Given the description of an element on the screen output the (x, y) to click on. 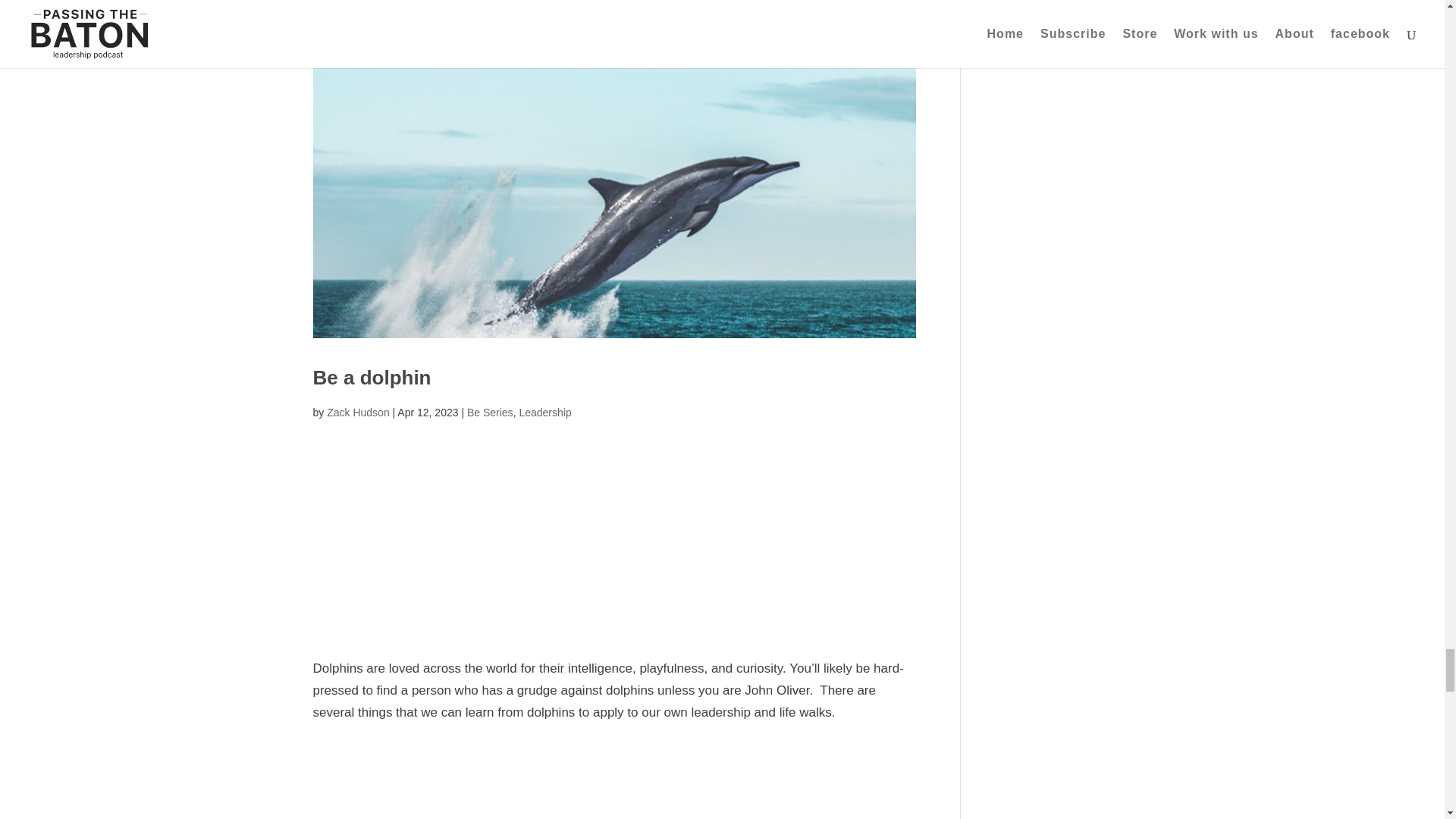
Posts by Zack Hudson (357, 412)
Embed Player (614, 525)
